Given the description of an element on the screen output the (x, y) to click on. 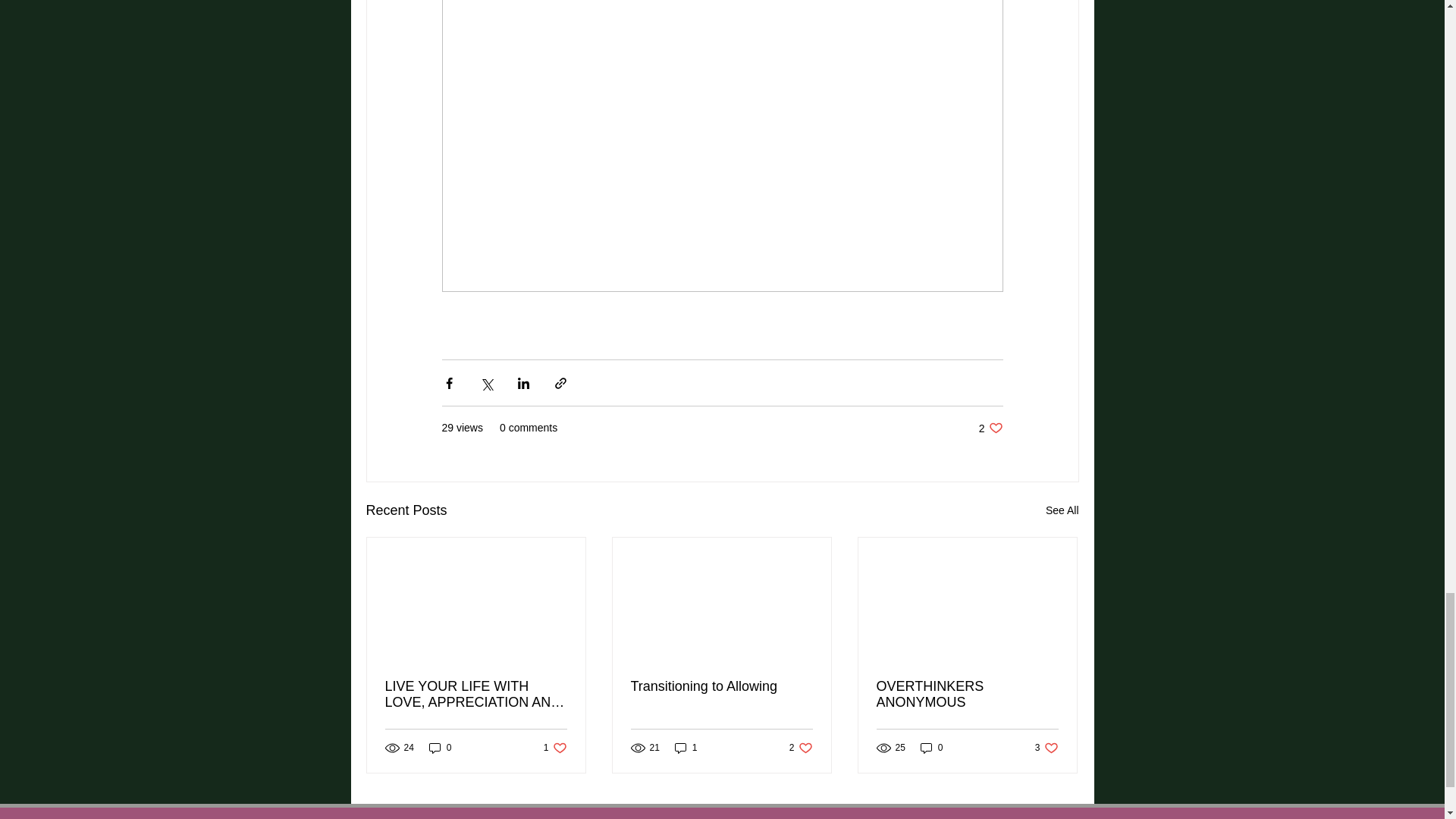
OVERTHINKERS ANONYMOUS (555, 748)
0 (967, 694)
1 (440, 748)
0 (685, 748)
Transitioning to Allowing (931, 748)
LIVE YOUR LIFE WITH LOVE, APPRECIATION AND KINDNESS (721, 686)
